Given the description of an element on the screen output the (x, y) to click on. 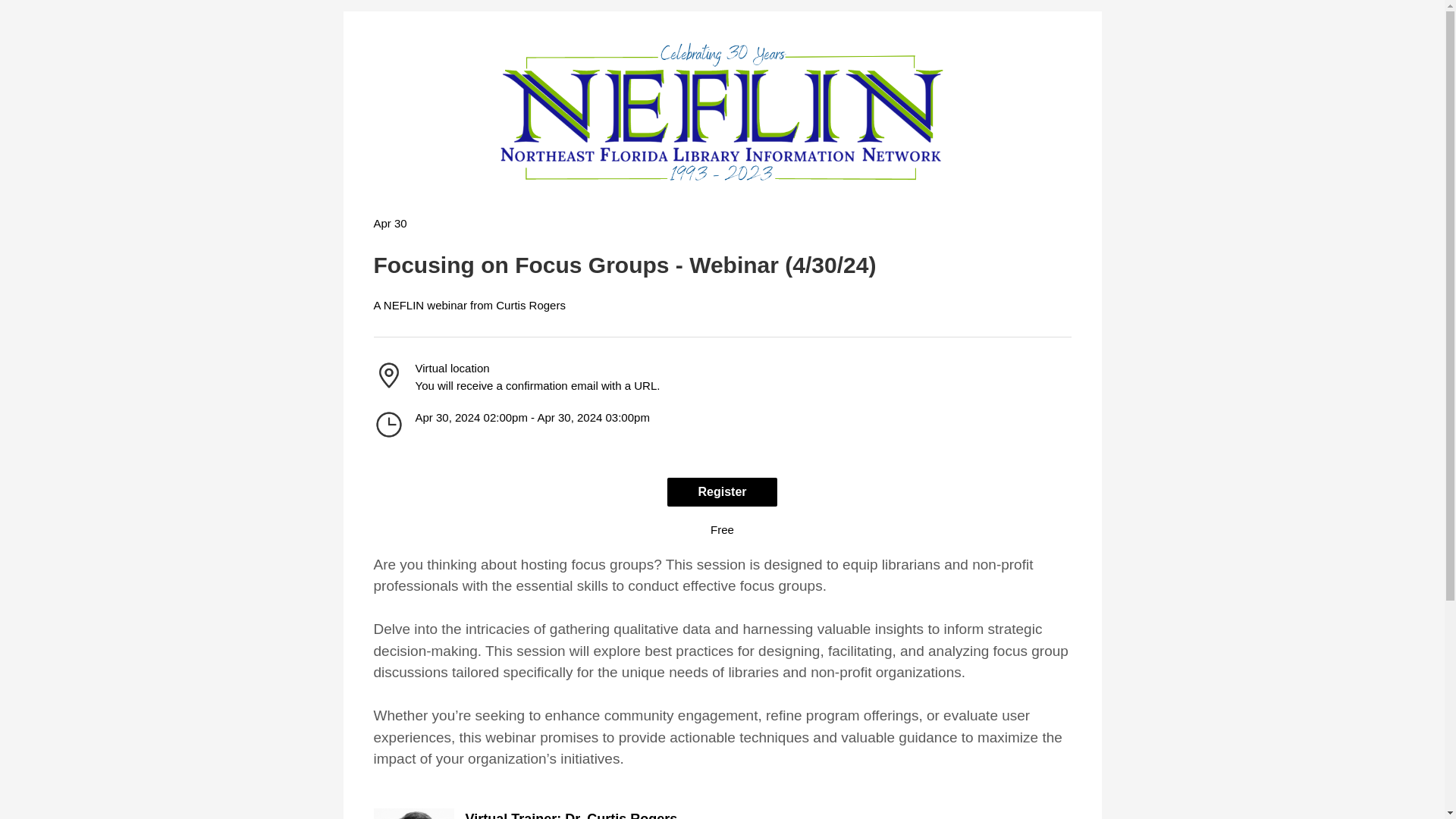
Register (721, 491)
